Given the description of an element on the screen output the (x, y) to click on. 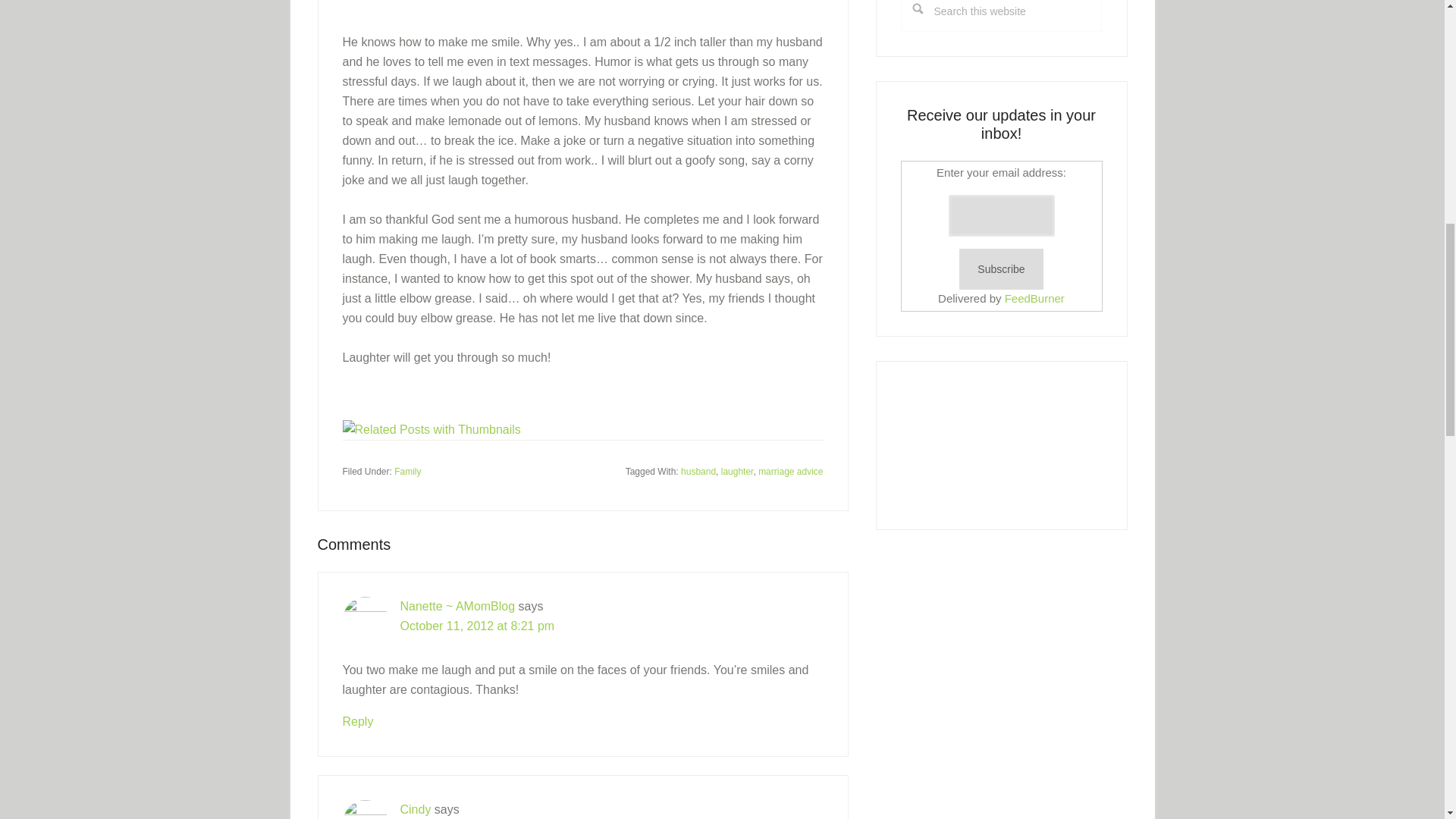
Reply (358, 720)
marriage advice (790, 471)
October 11, 2012 at 8:21 pm (477, 625)
Cindy (415, 808)
laughter (737, 471)
Family (407, 471)
Subscribe (1000, 269)
husband (698, 471)
